Given the description of an element on the screen output the (x, y) to click on. 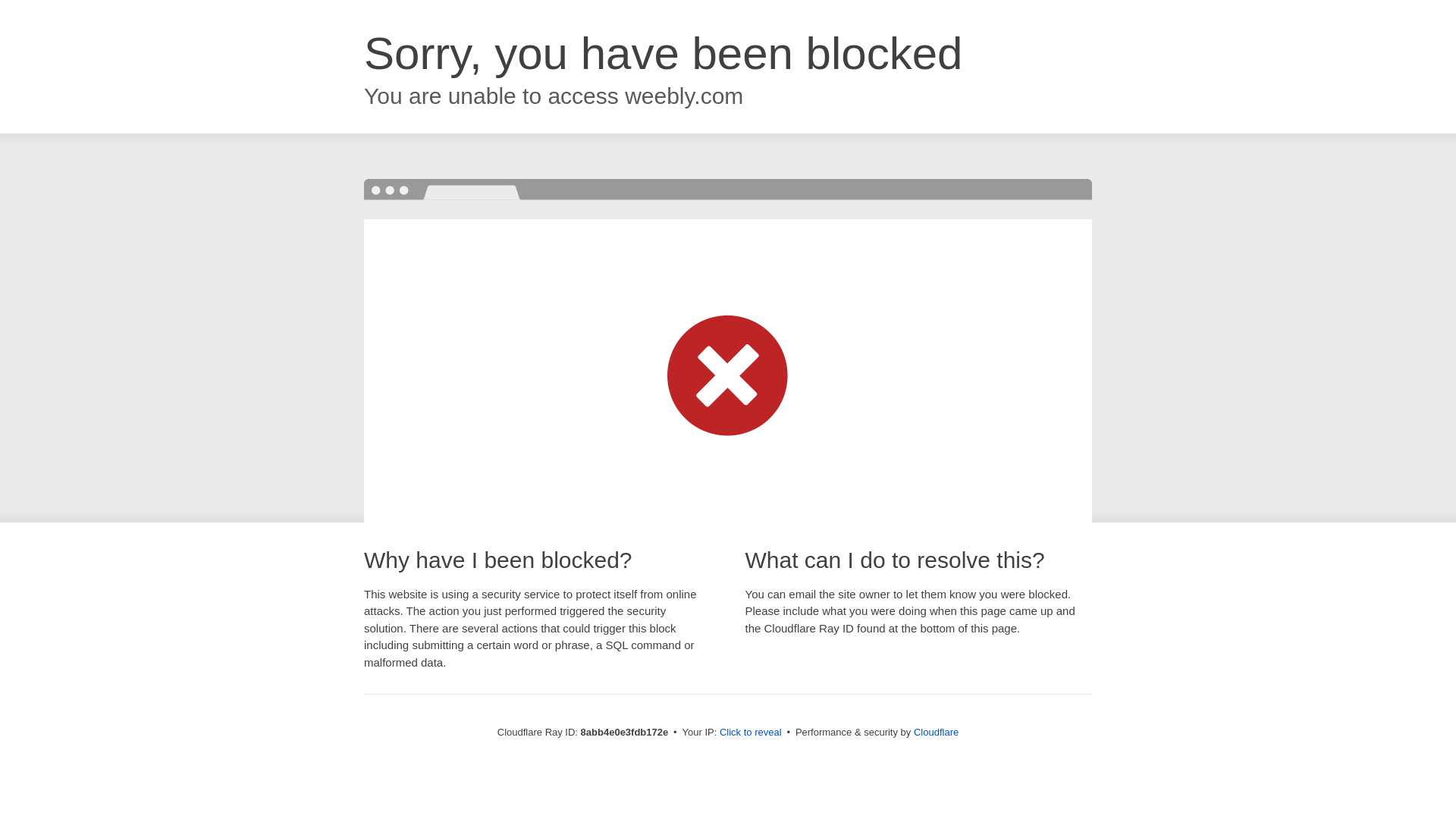
Cloudflare (936, 731)
Click to reveal (750, 732)
